Given the description of an element on the screen output the (x, y) to click on. 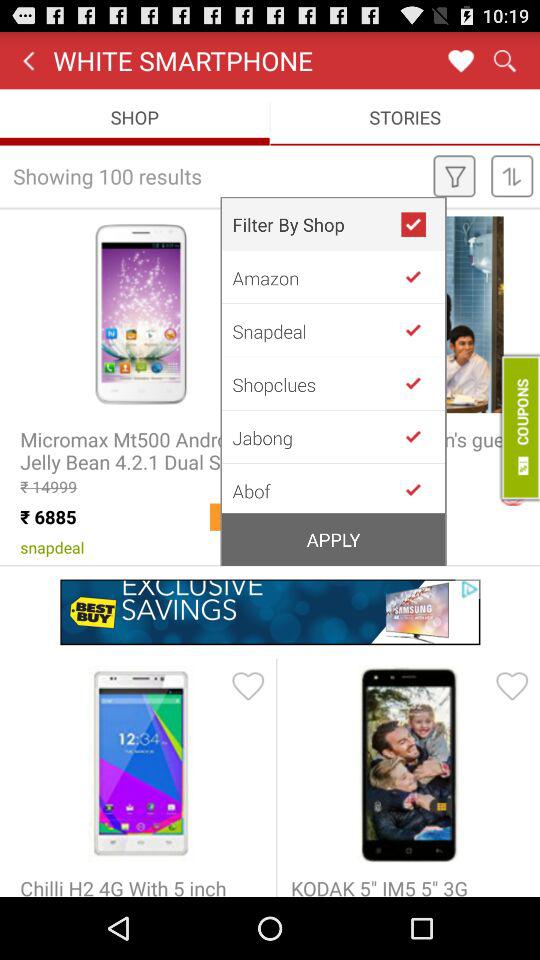
toggle to include/do not include this shop (421, 330)
